Given the description of an element on the screen output the (x, y) to click on. 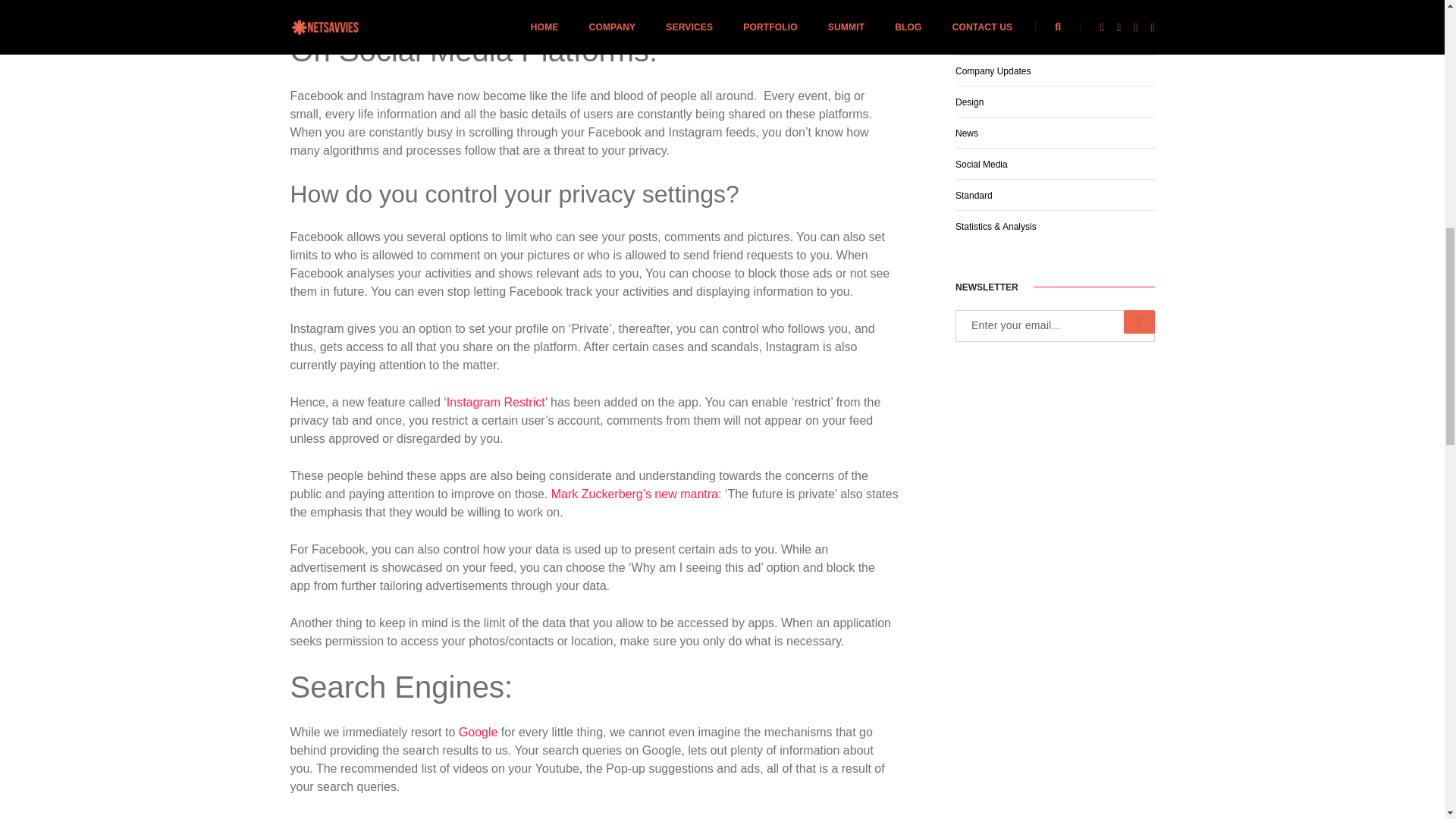
Google (475, 731)
